Given the description of an element on the screen output the (x, y) to click on. 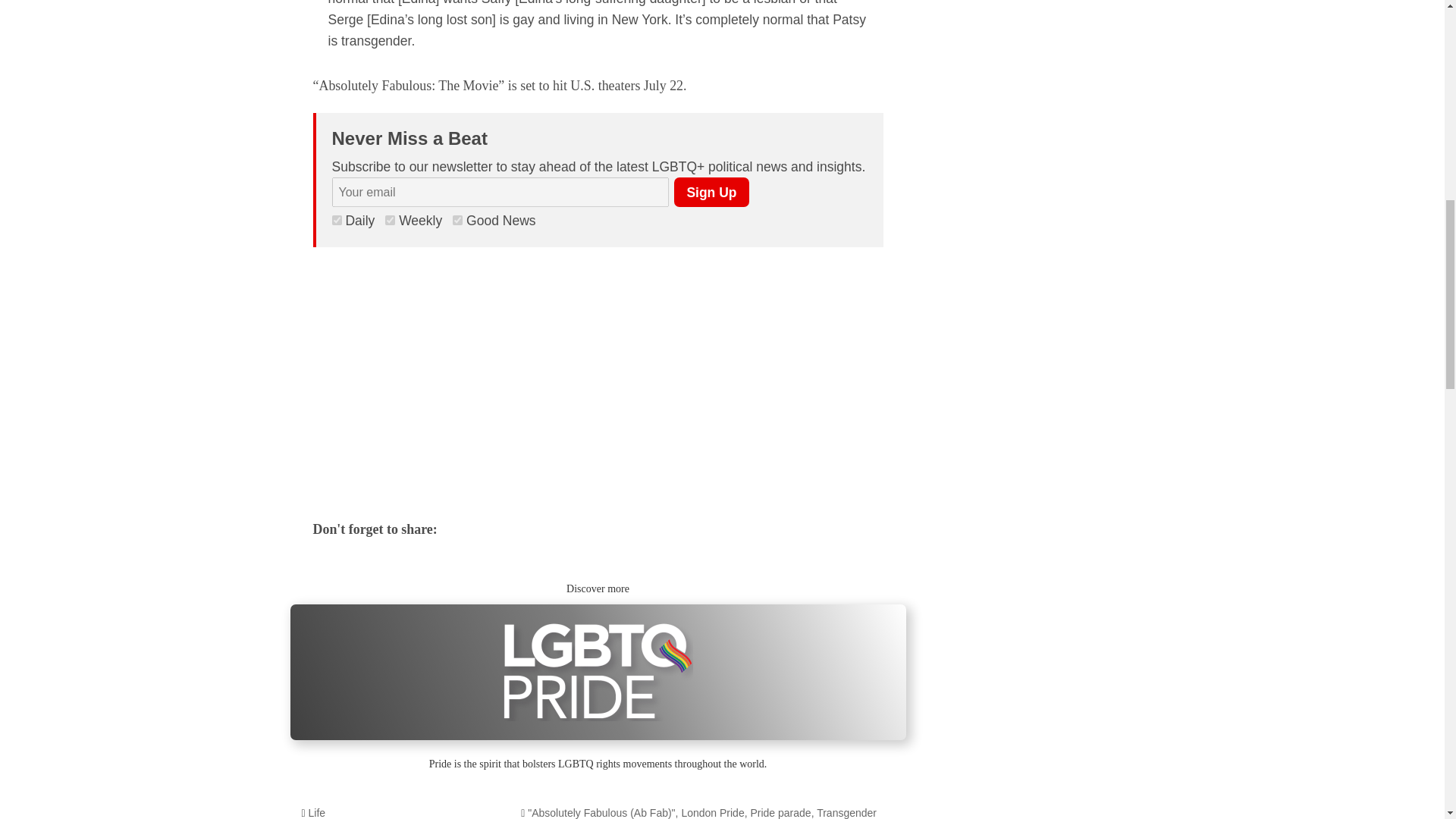
Sign Up (711, 192)
1920885 (336, 220)
1920884 (389, 220)
1920883 (457, 220)
